Given the description of an element on the screen output the (x, y) to click on. 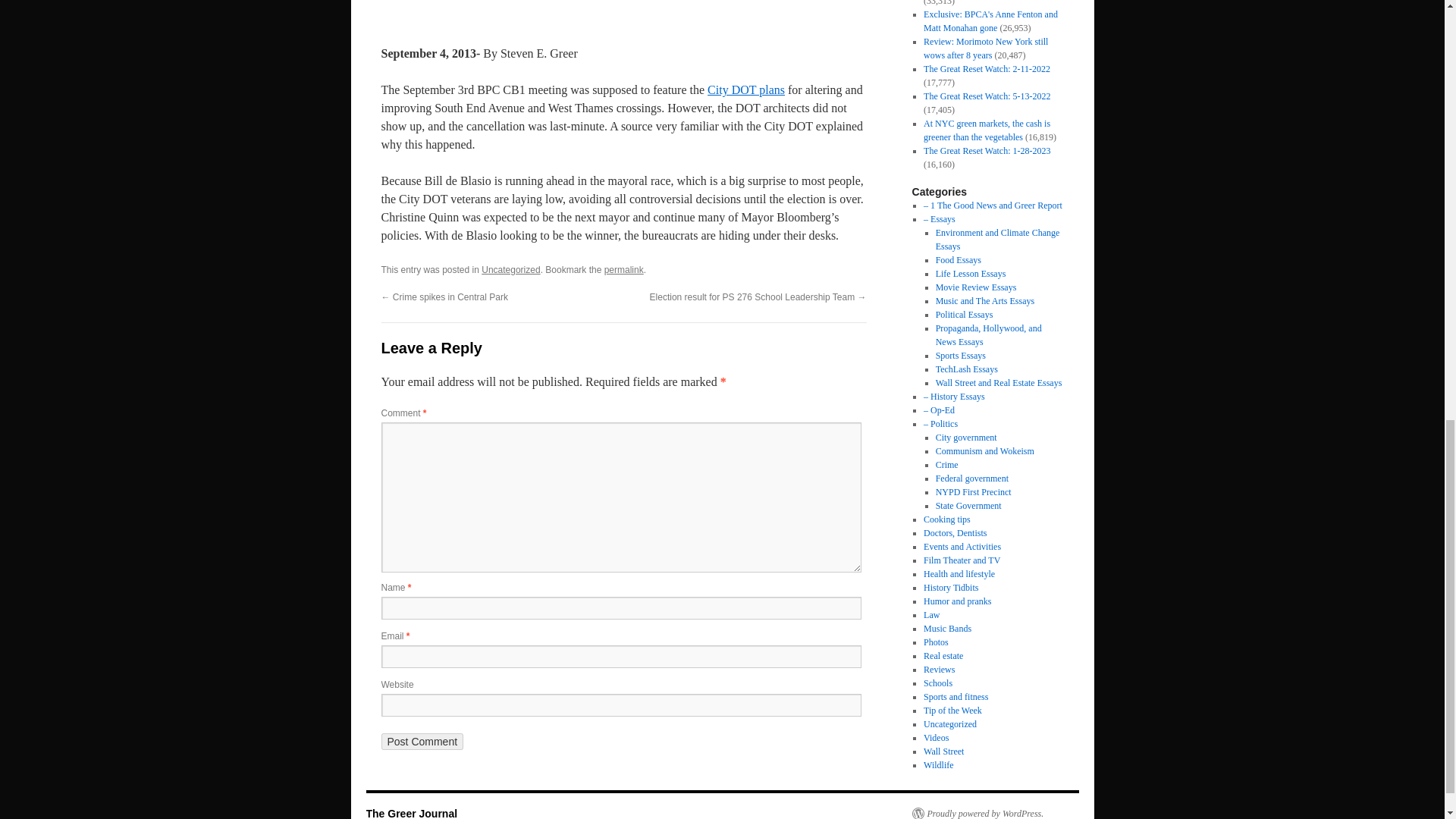
Post Comment (421, 741)
Exclusive: BPCA's Anne Fenton and Matt Monahan gone (990, 21)
Post Comment (421, 741)
Uncategorized (510, 269)
Review: Morimoto New York still wows after 8 years (985, 48)
City DOT plans (745, 89)
The Great Reset Watch: 2-11-2022 (986, 68)
The Great Reset Watch: 5-13-2022 (986, 95)
The Great Reset Watch: 2-11-2022 (986, 68)
